Given the description of an element on the screen output the (x, y) to click on. 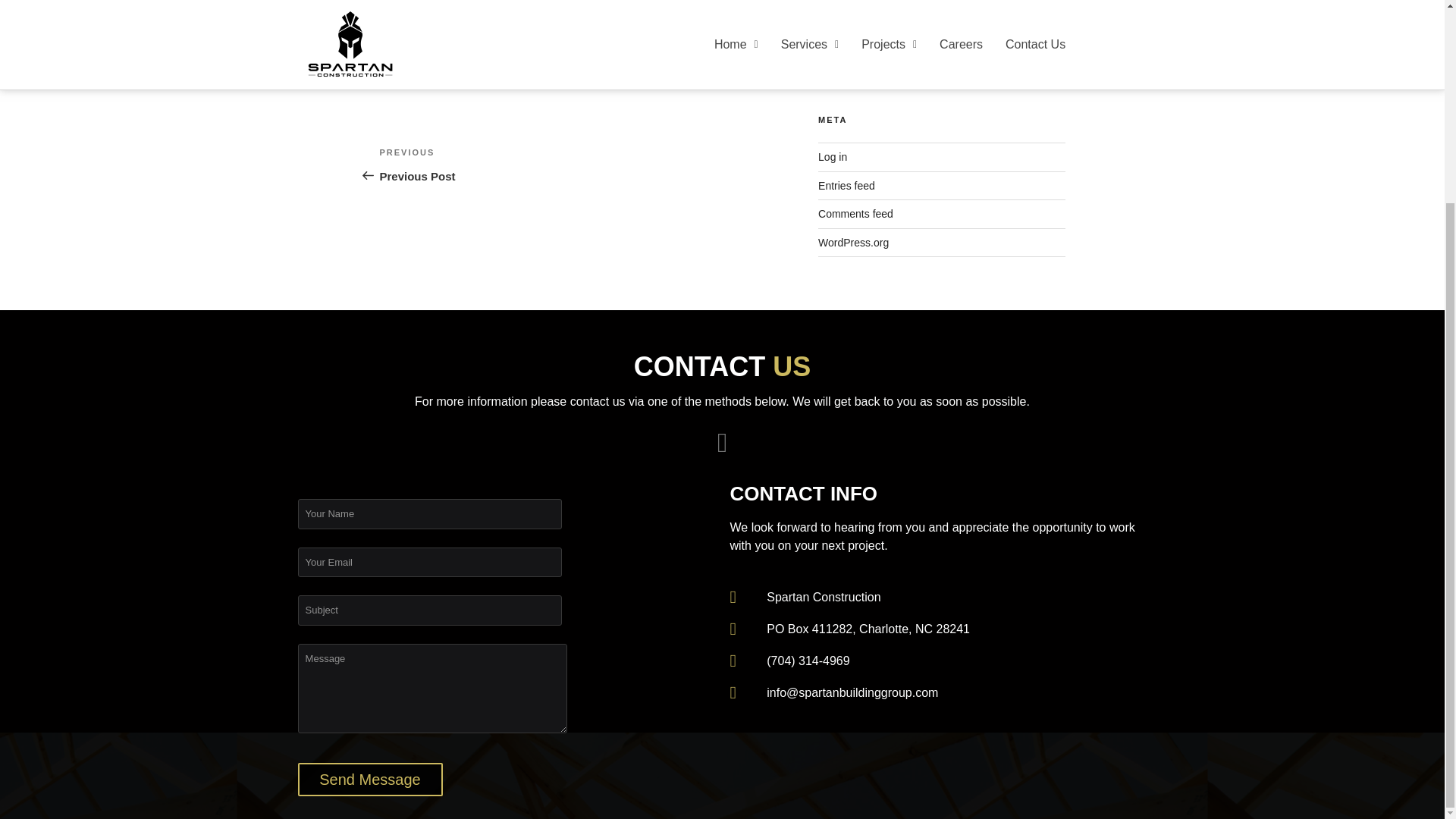
Entries feed (846, 185)
Log in (832, 156)
Comments feed (855, 214)
Send Message (369, 779)
Send Message (478, 164)
WordPress.org (369, 779)
